Given the description of an element on the screen output the (x, y) to click on. 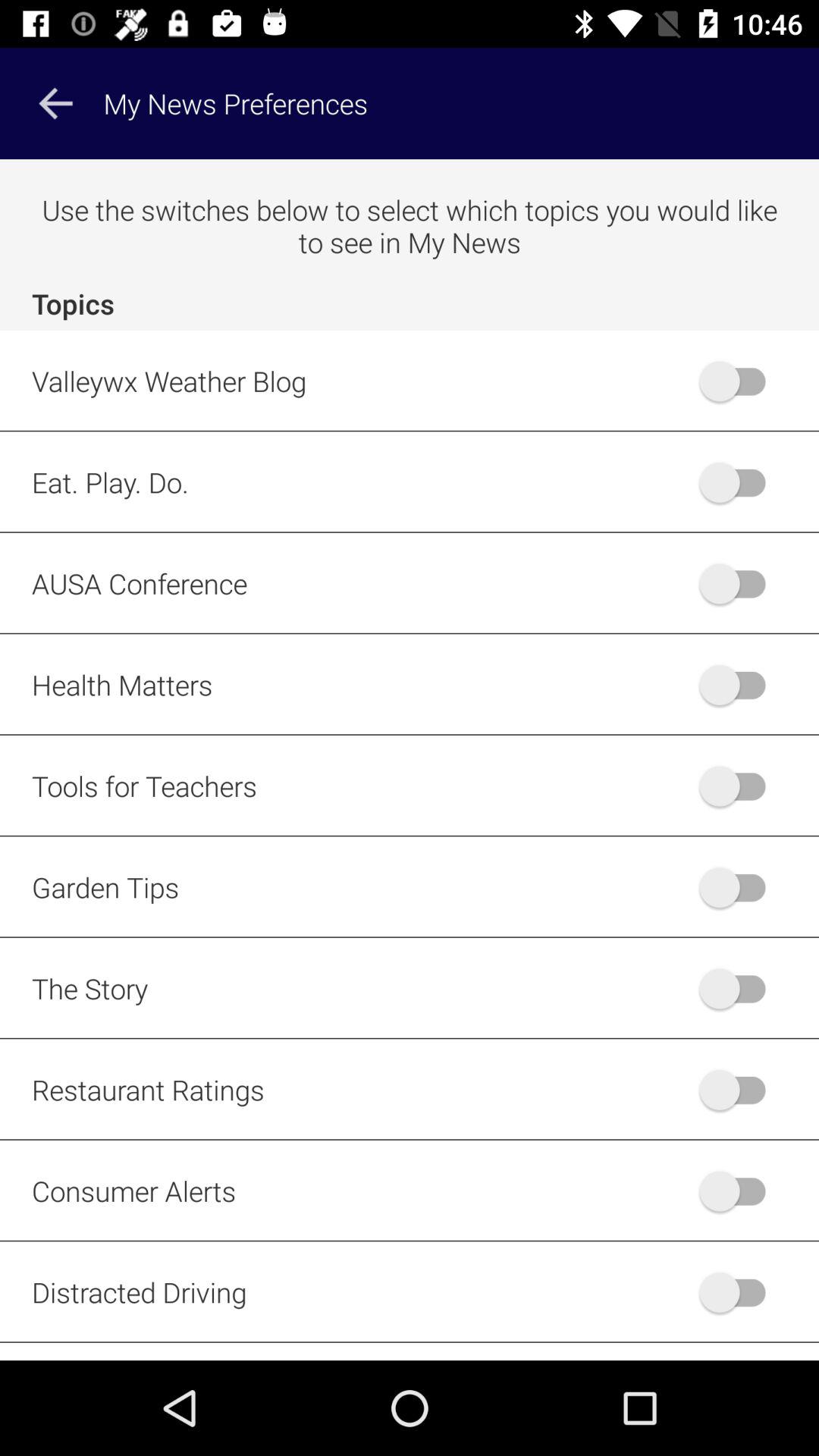
switch distracted driving on (739, 1291)
